Given the description of an element on the screen output the (x, y) to click on. 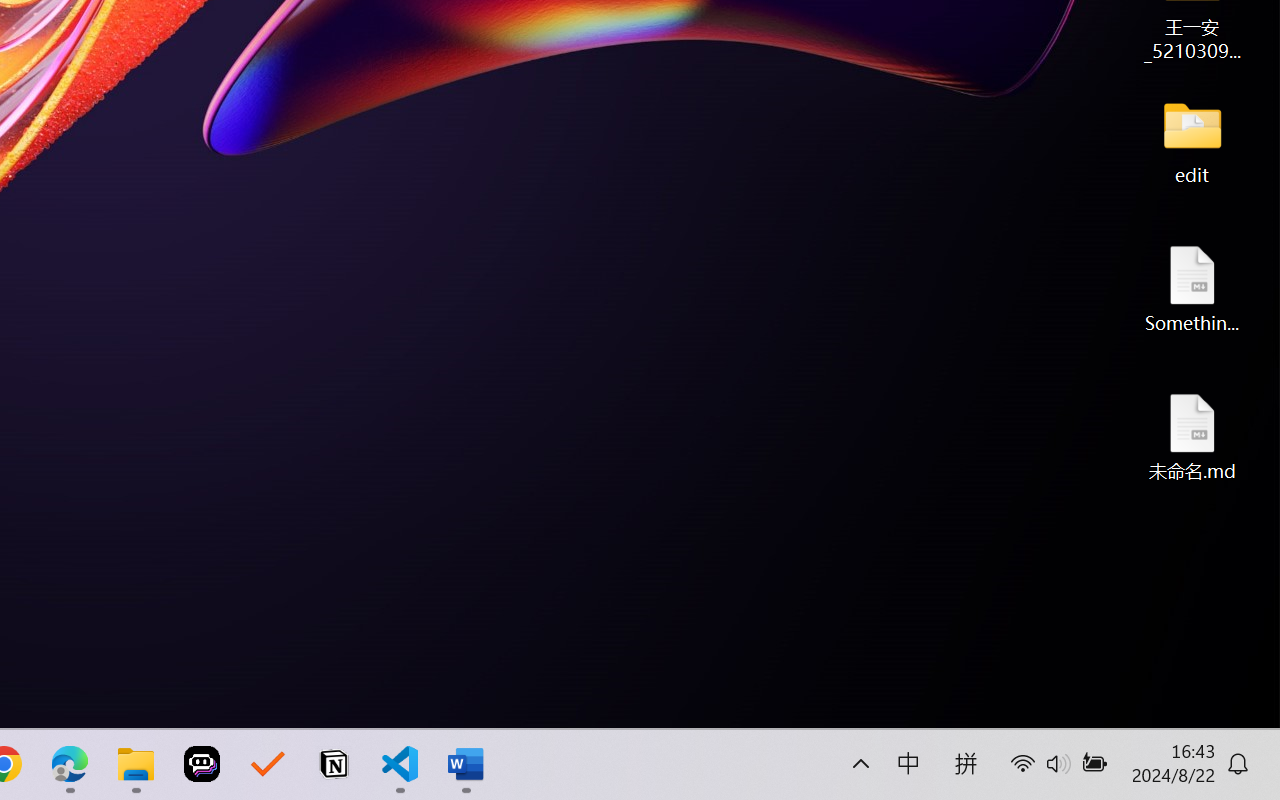
Something.md (1192, 288)
edit (1192, 140)
